Given the description of an element on the screen output the (x, y) to click on. 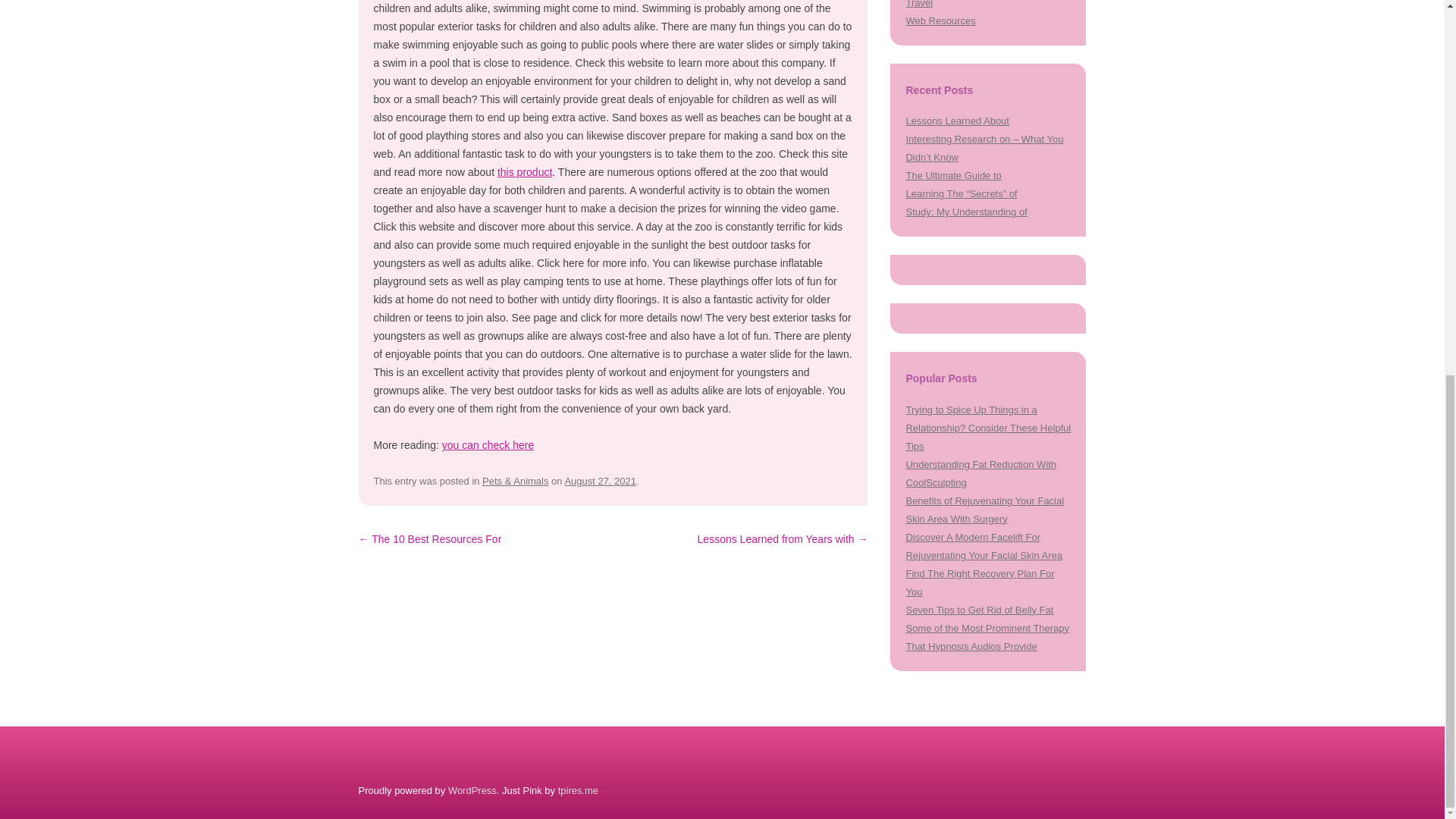
Understanding Fat Reduction With CoolSculpting (980, 473)
Travel (919, 4)
this product (524, 172)
Benefits of Rejuvenating Your Facial Skin Area With Surgery (984, 509)
Seven Tips to Get Rid of Belly Fat (978, 609)
August 27, 2021 (600, 480)
Web Resources (940, 20)
Lessons Learned About (957, 120)
4:50 am (600, 480)
The Ultimate Guide to (953, 174)
you can check here (488, 444)
Semantic Personal Publishing Platform (472, 790)
